Given the description of an element on the screen output the (x, y) to click on. 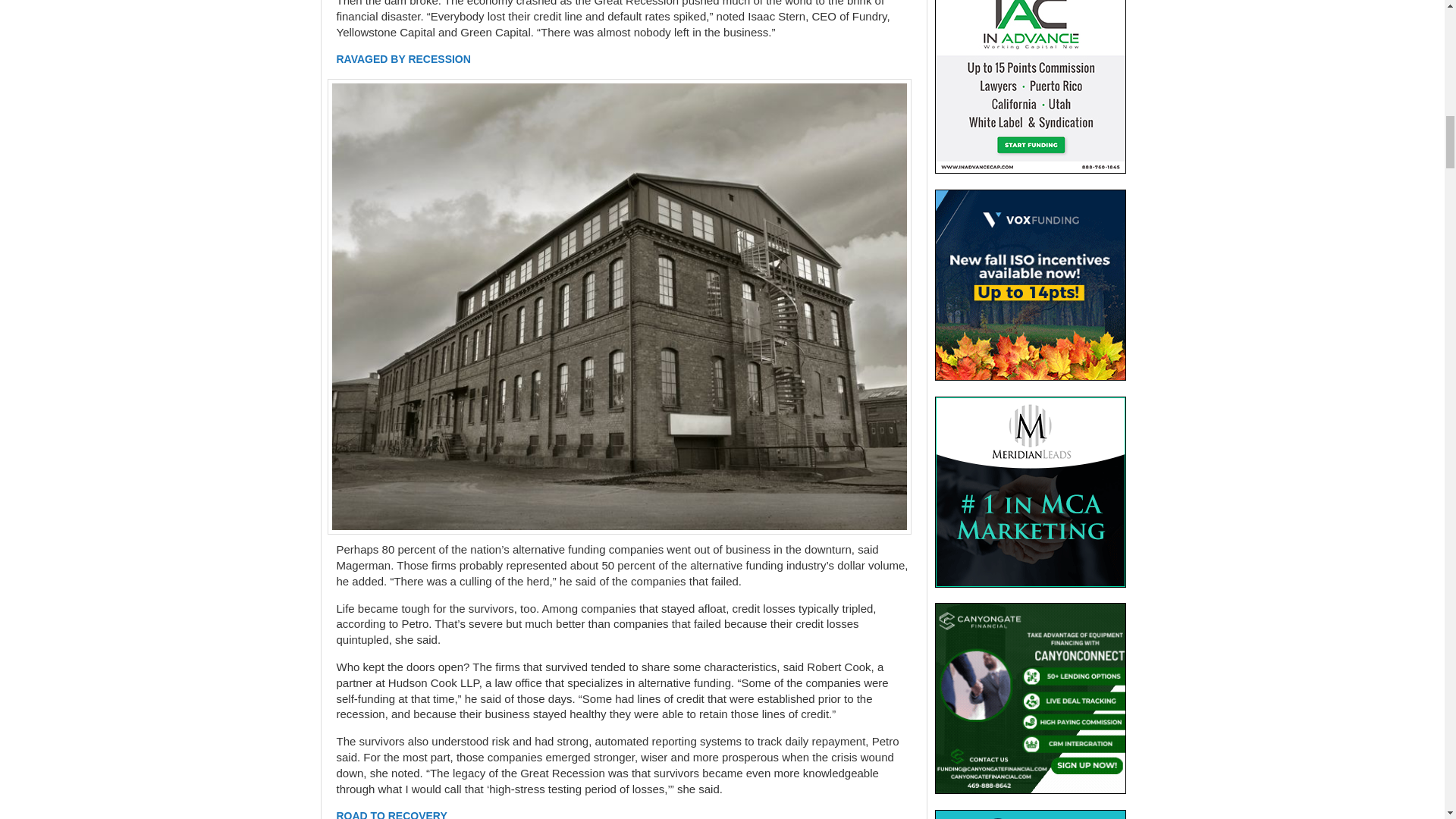
Vox Funding (1029, 284)
Meridian Leads (1029, 492)
IAC - In Advance Capital (1029, 86)
Canyongate Financial (1029, 697)
Hunter Caroline (1029, 814)
